Given the description of an element on the screen output the (x, y) to click on. 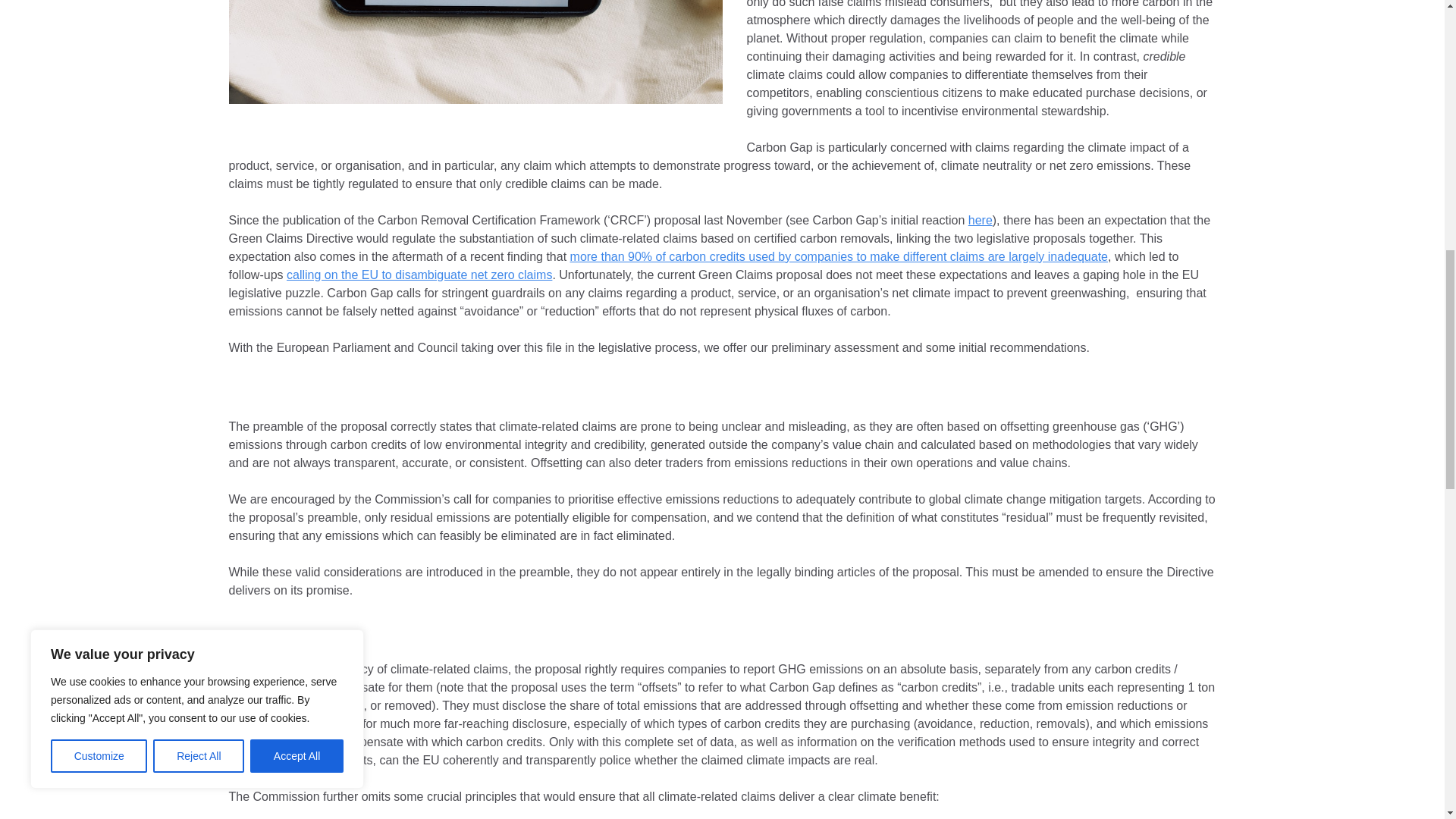
here (980, 219)
calling on the EU to disambiguate net zero claims (418, 274)
